Given the description of an element on the screen output the (x, y) to click on. 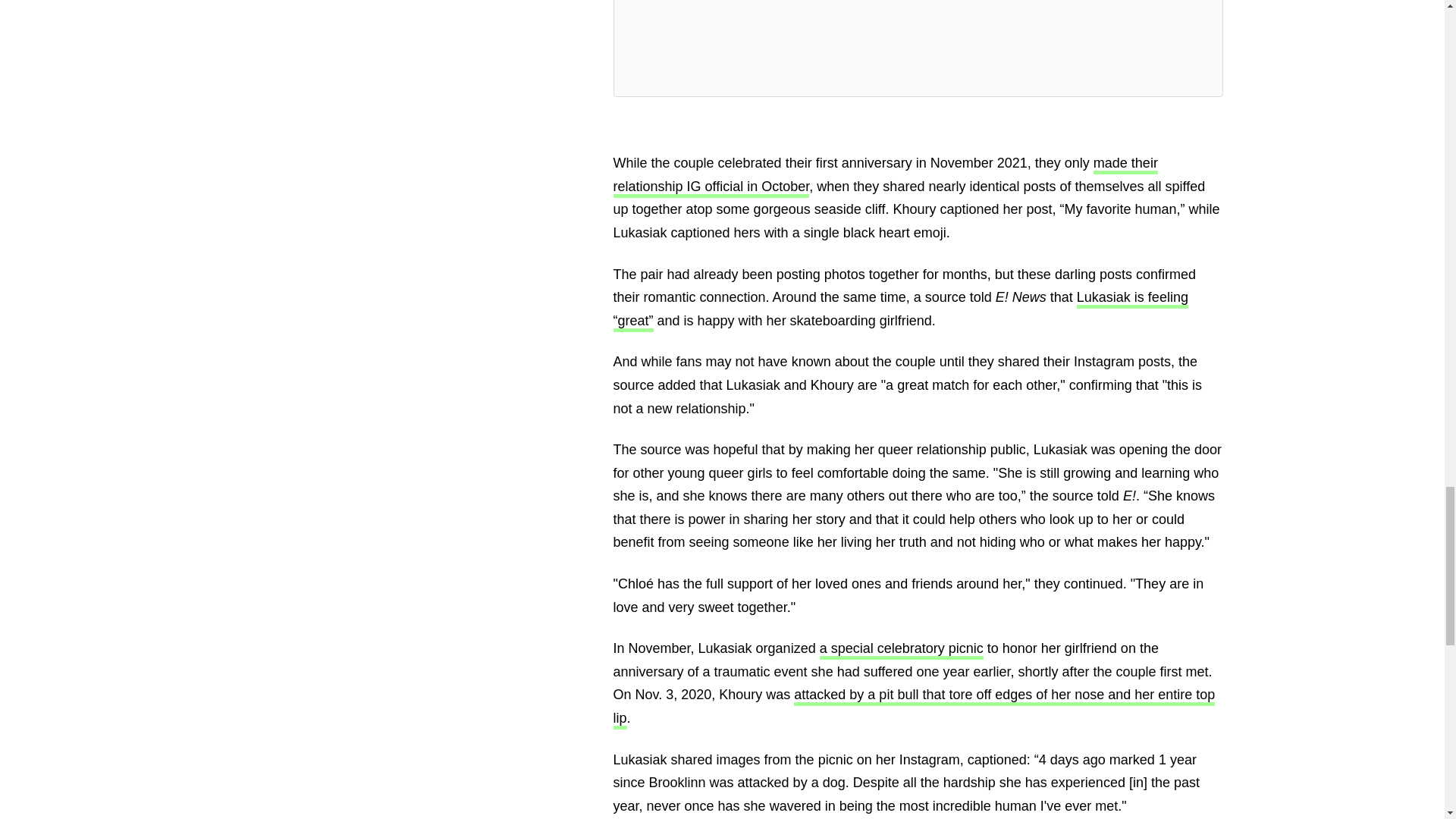
made their relationship IG official in October (884, 176)
a special celebratory picnic (901, 650)
